Given the description of an element on the screen output the (x, y) to click on. 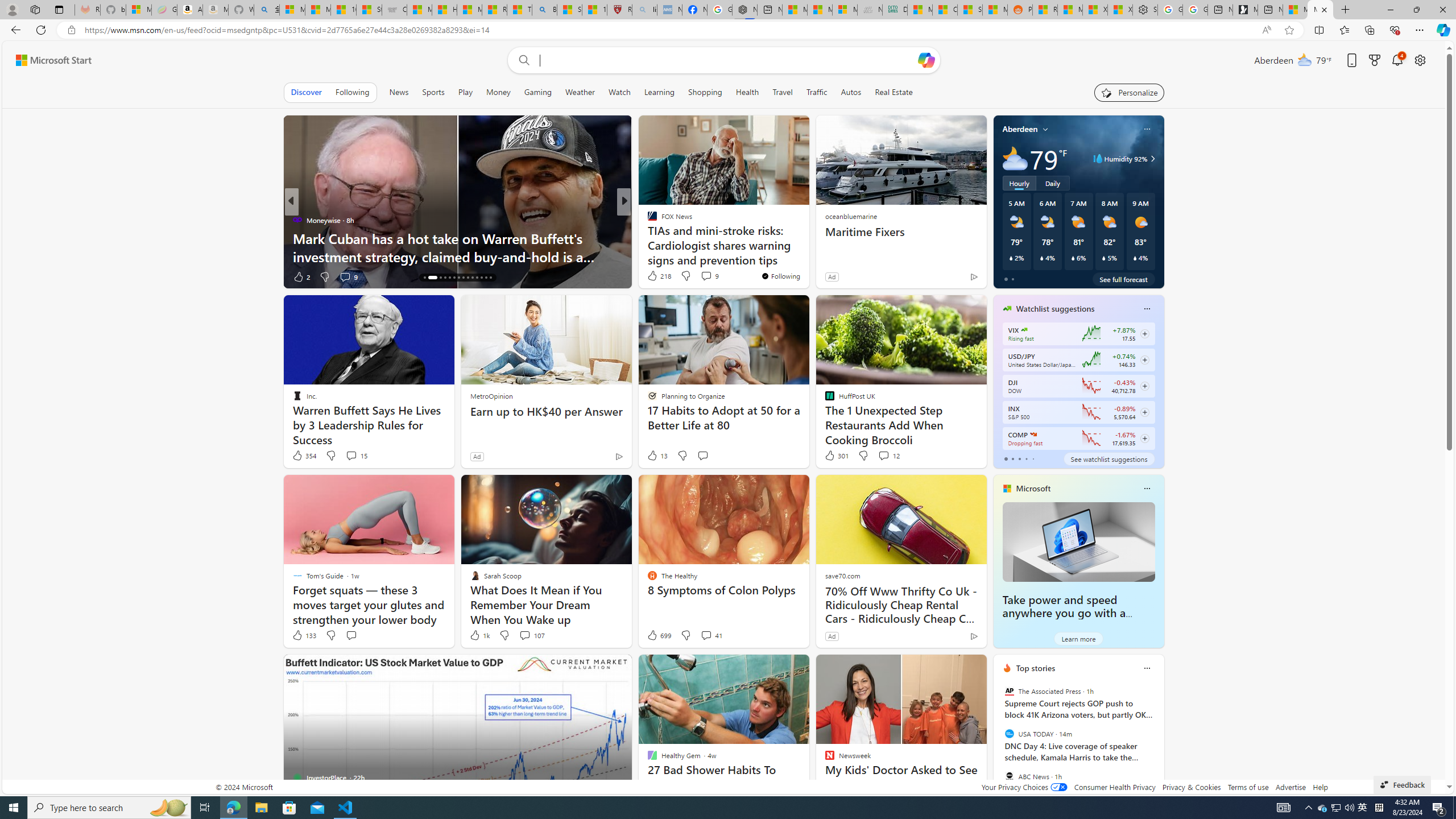
876 Like (654, 276)
Constative (647, 219)
Class: follow-button  m (1144, 438)
